Given the description of an element on the screen output the (x, y) to click on. 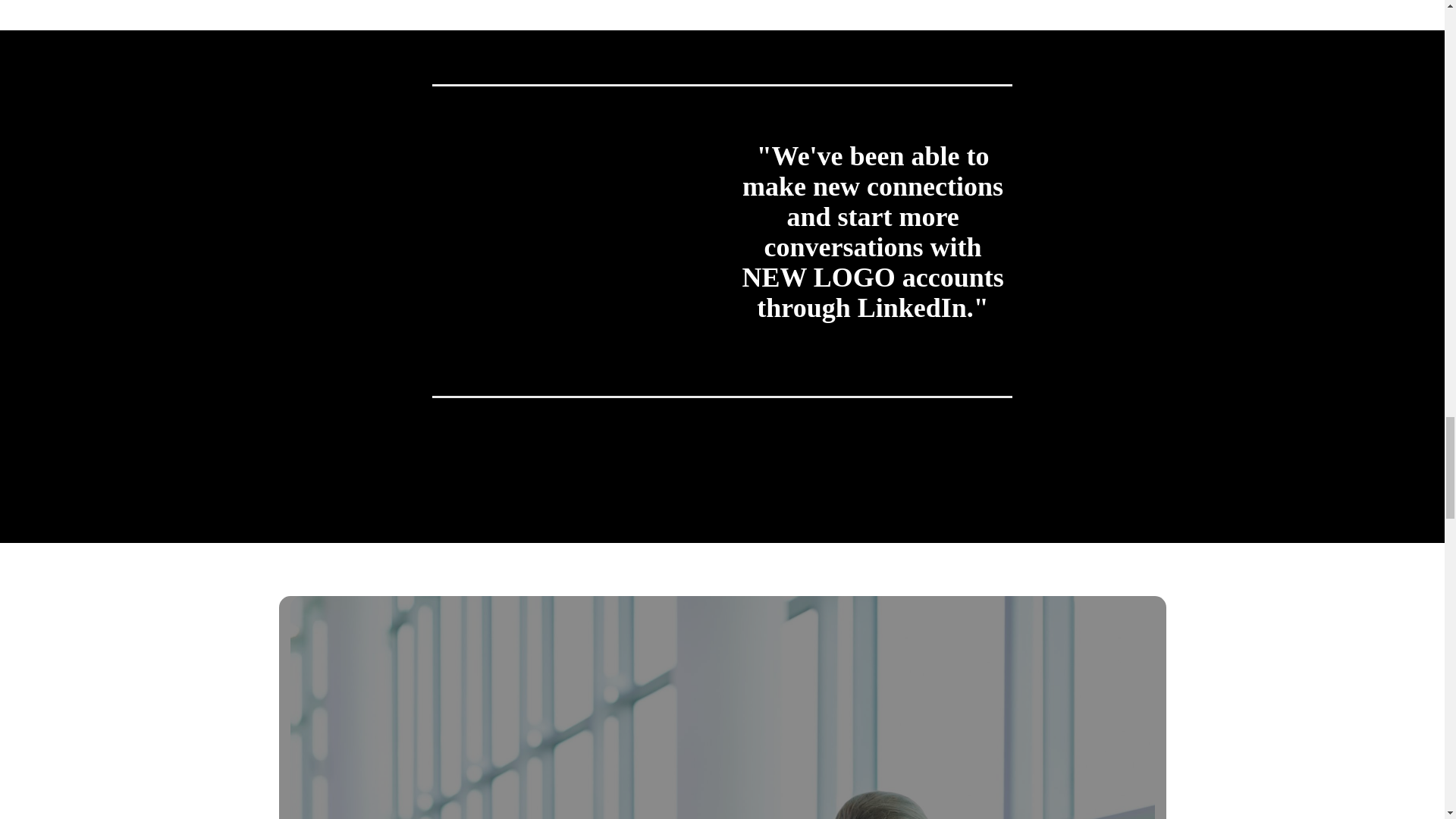
LINDSEY MARKS (571, 254)
